Given the description of an element on the screen output the (x, y) to click on. 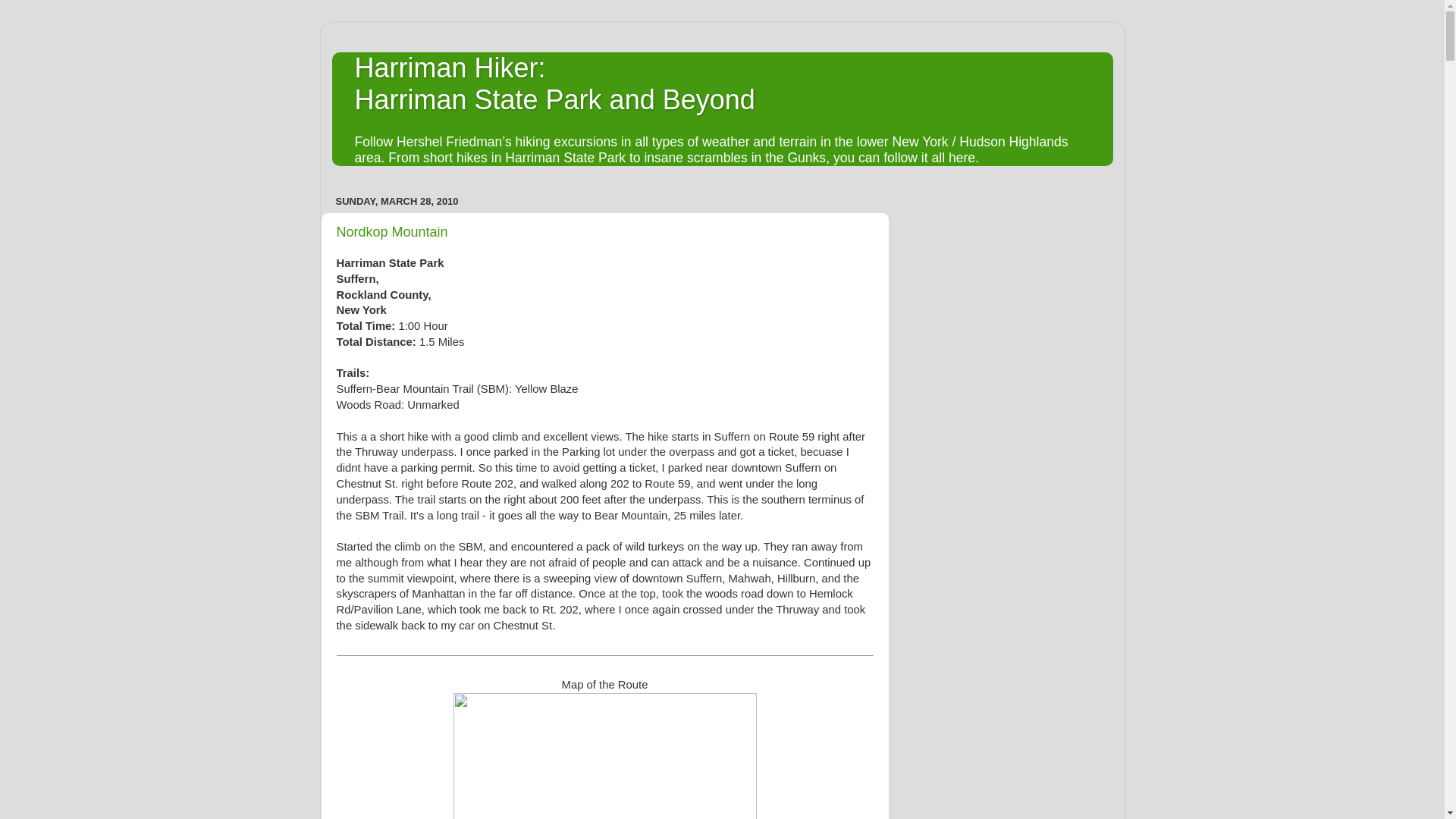
Nordkop Mountain (555, 83)
